Given the description of an element on the screen output the (x, y) to click on. 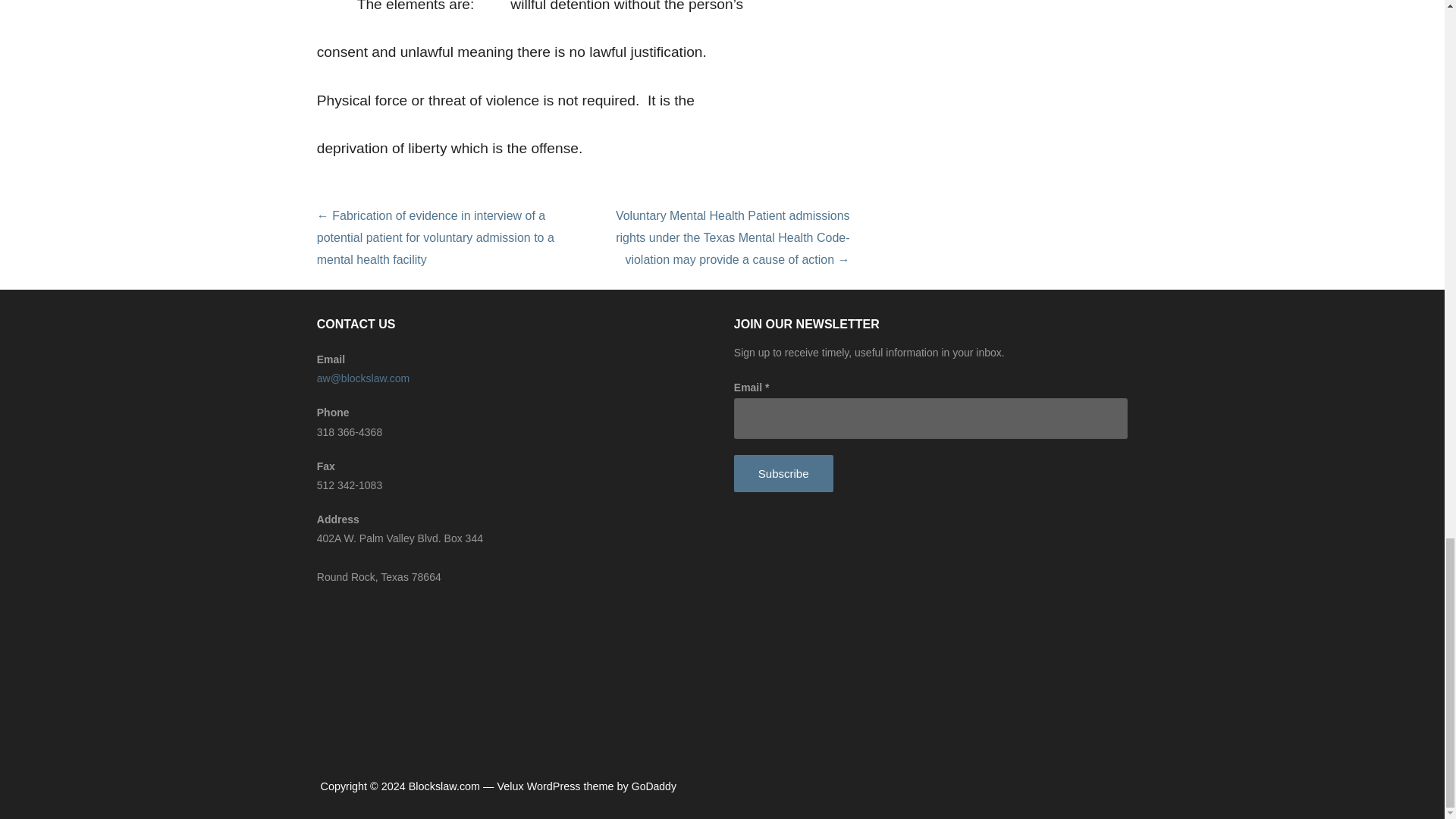
Subscribe (782, 473)
GoDaddy (654, 786)
Subscribe (782, 473)
